Given the description of an element on the screen output the (x, y) to click on. 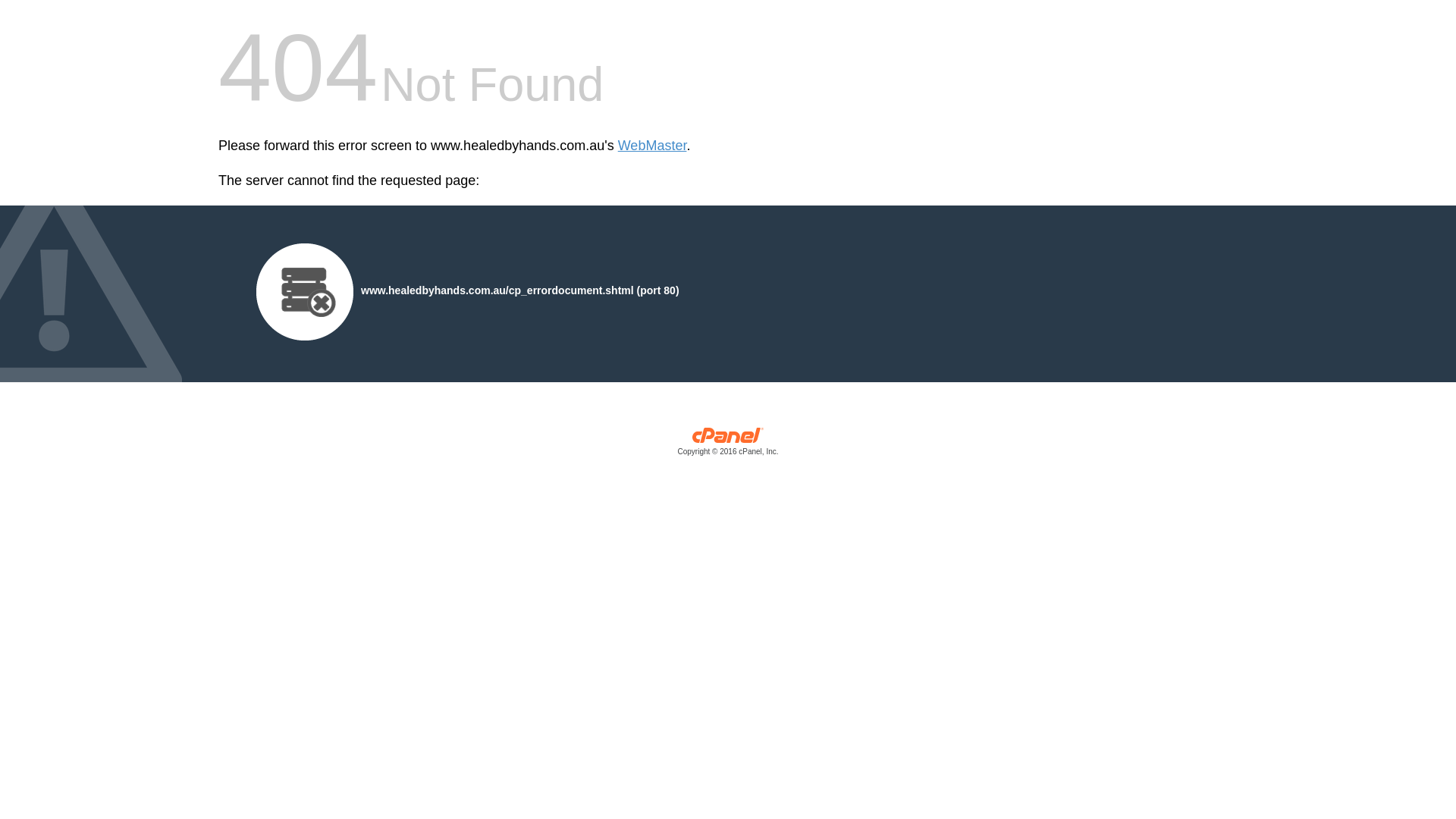
WebMaster Element type: text (652, 145)
